Given the description of an element on the screen output the (x, y) to click on. 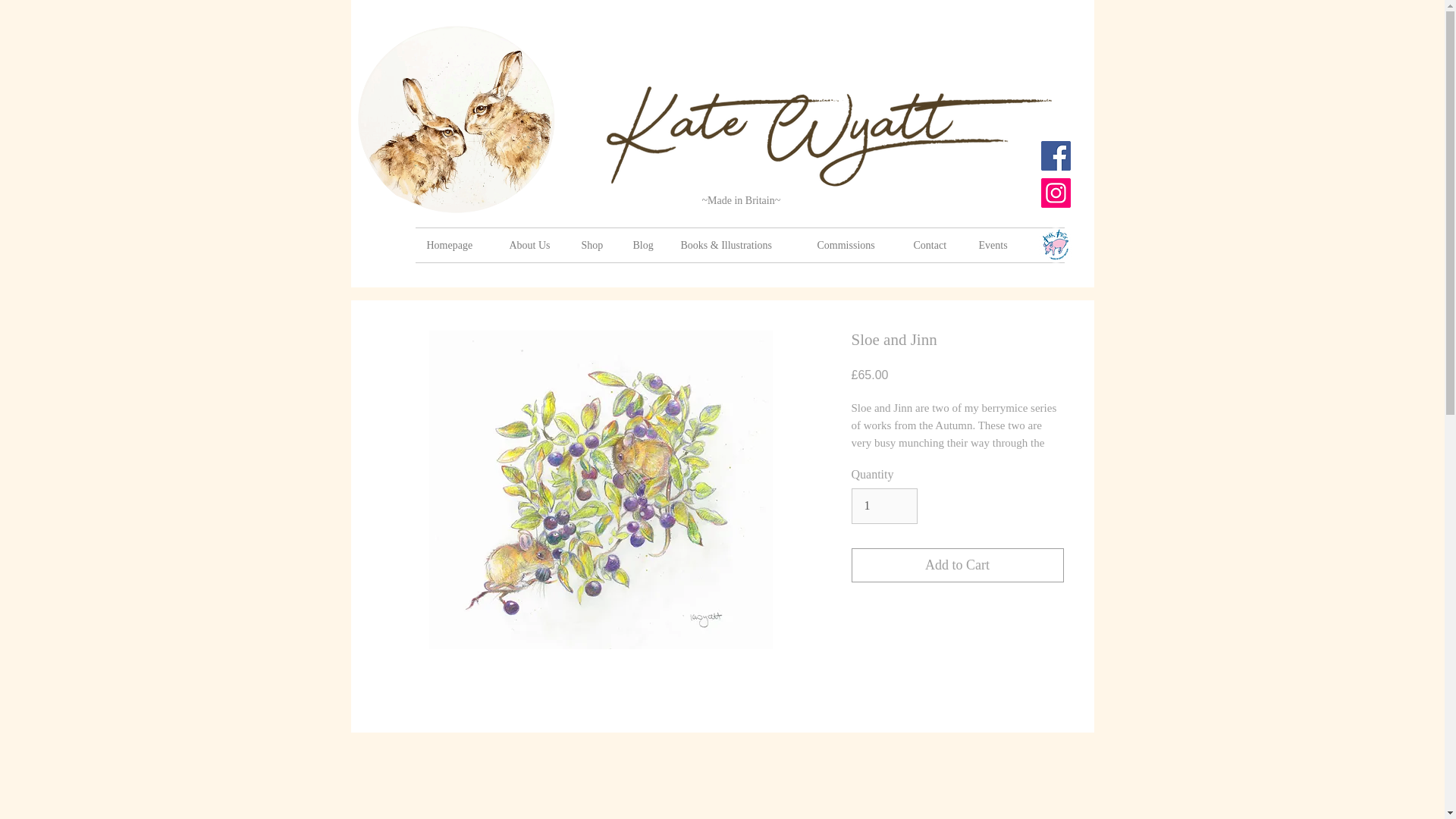
Blog (645, 245)
1 (883, 505)
About Us (533, 245)
Homepage (455, 245)
Add to Cart (956, 564)
Events (997, 245)
Commissions (853, 245)
Shop (595, 245)
Contact (935, 245)
